Given the description of an element on the screen output the (x, y) to click on. 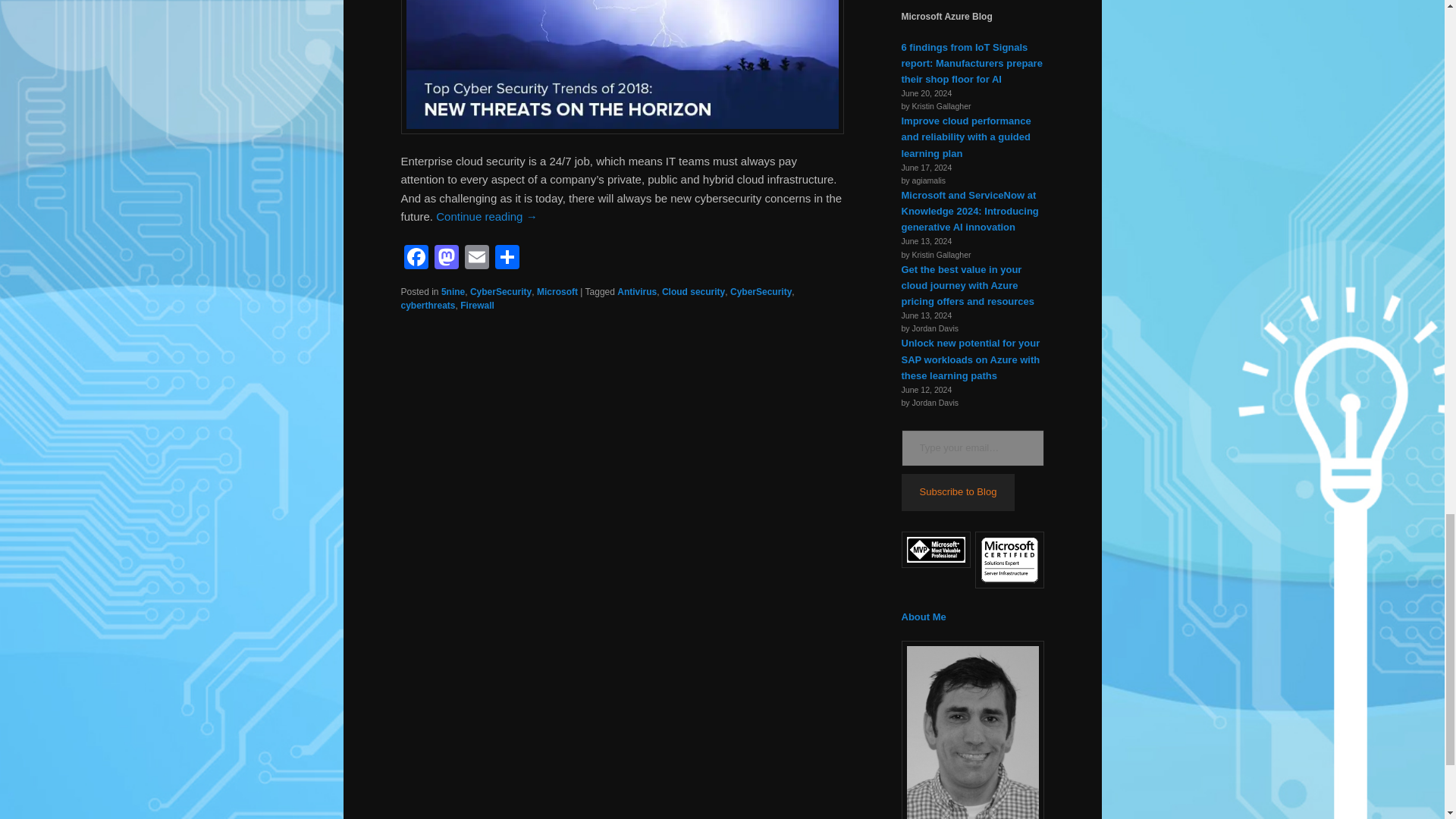
Email (476, 258)
Facebook (415, 258)
Mastodon (445, 258)
